Given the description of an element on the screen output the (x, y) to click on. 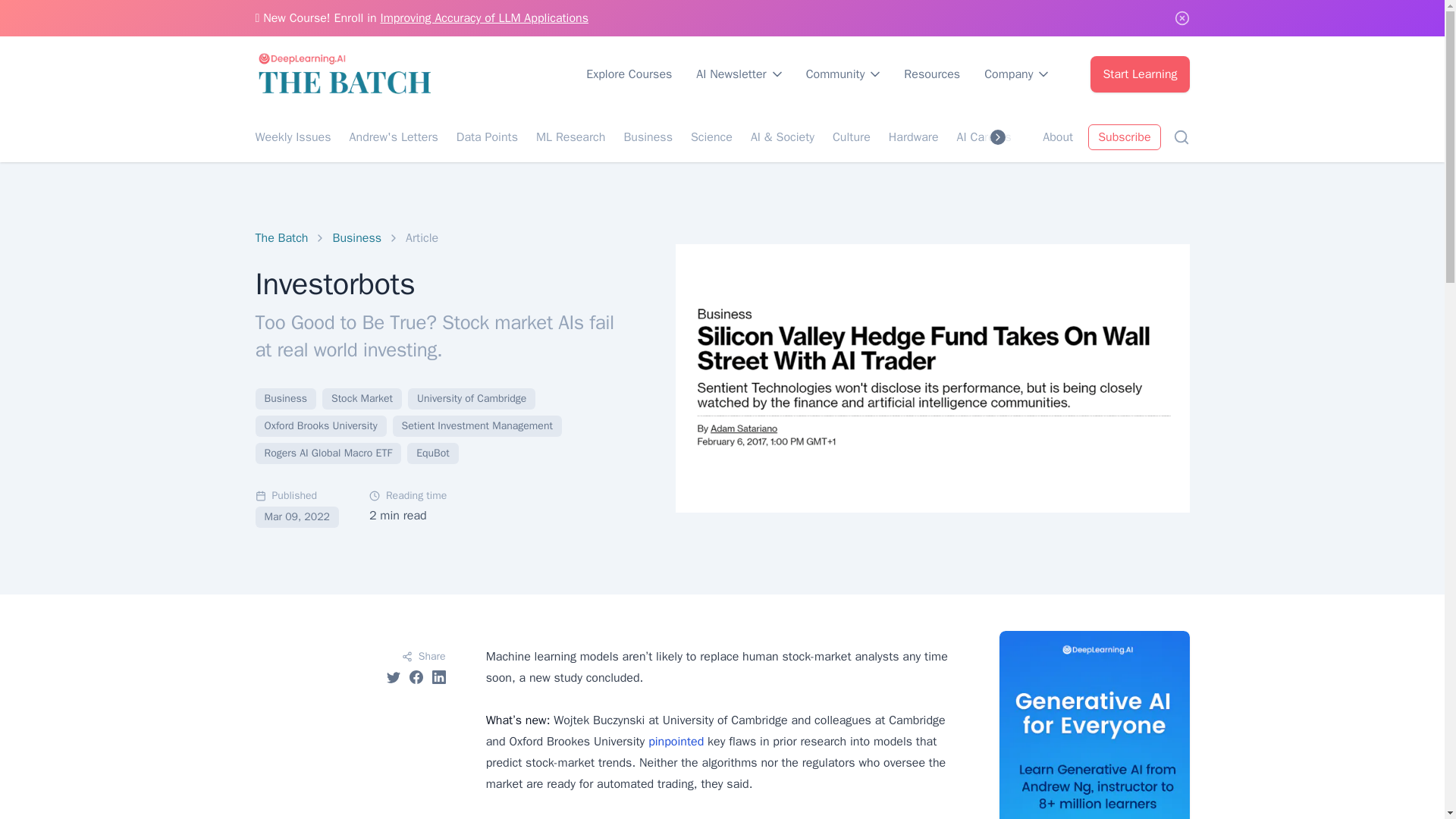
The Batch (280, 238)
Improving Accuracy of LLM Applications (484, 17)
Explore Courses (628, 74)
Hardware (913, 137)
AI Newsletter (738, 74)
Andrew's Letters (393, 137)
Community (842, 74)
Data Points (487, 137)
Company (1015, 74)
Subscribe (1123, 136)
